Given the description of an element on the screen output the (x, y) to click on. 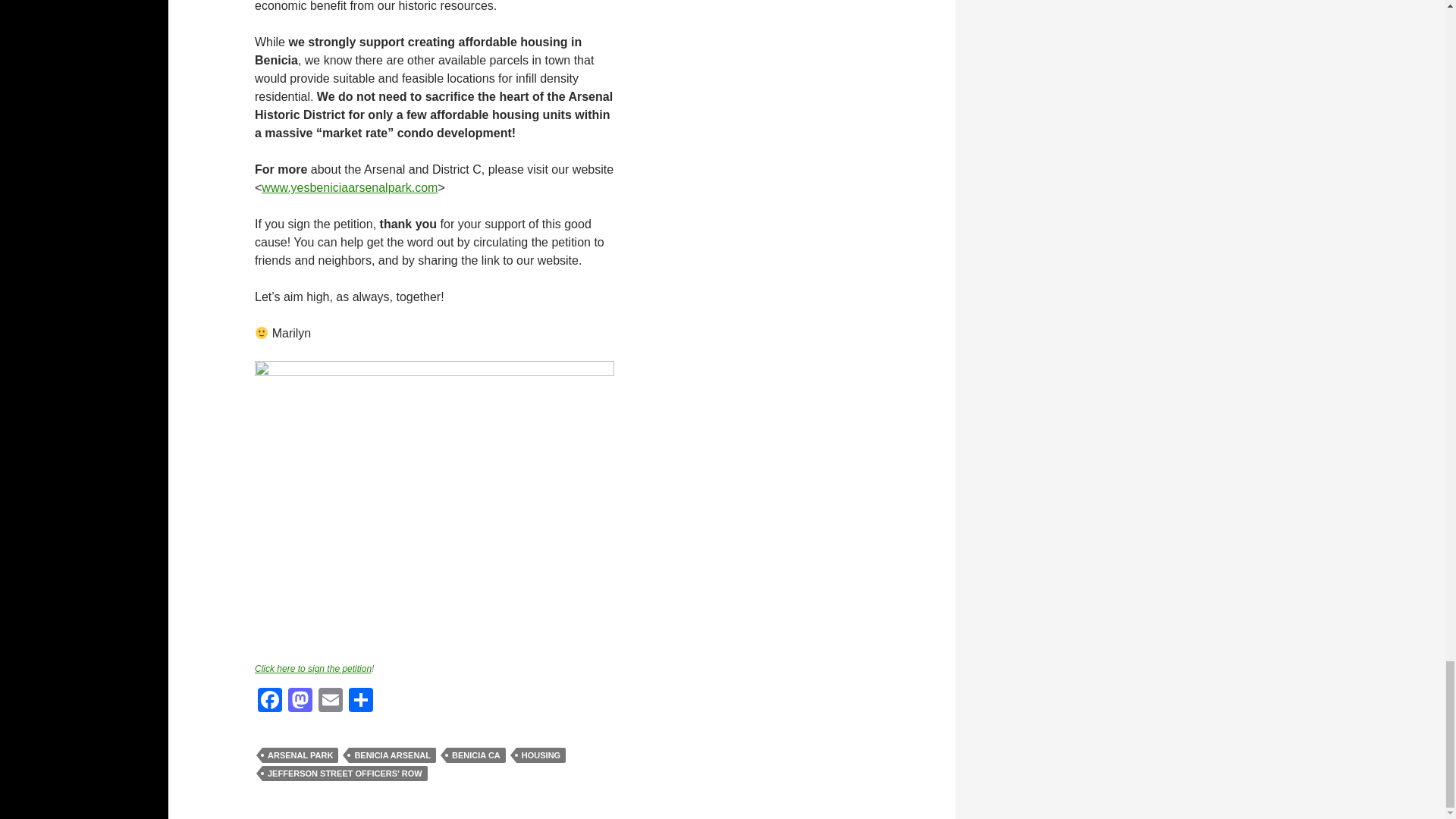
Mastodon (300, 701)
Email (330, 701)
Facebook (269, 701)
